Given the description of an element on the screen output the (x, y) to click on. 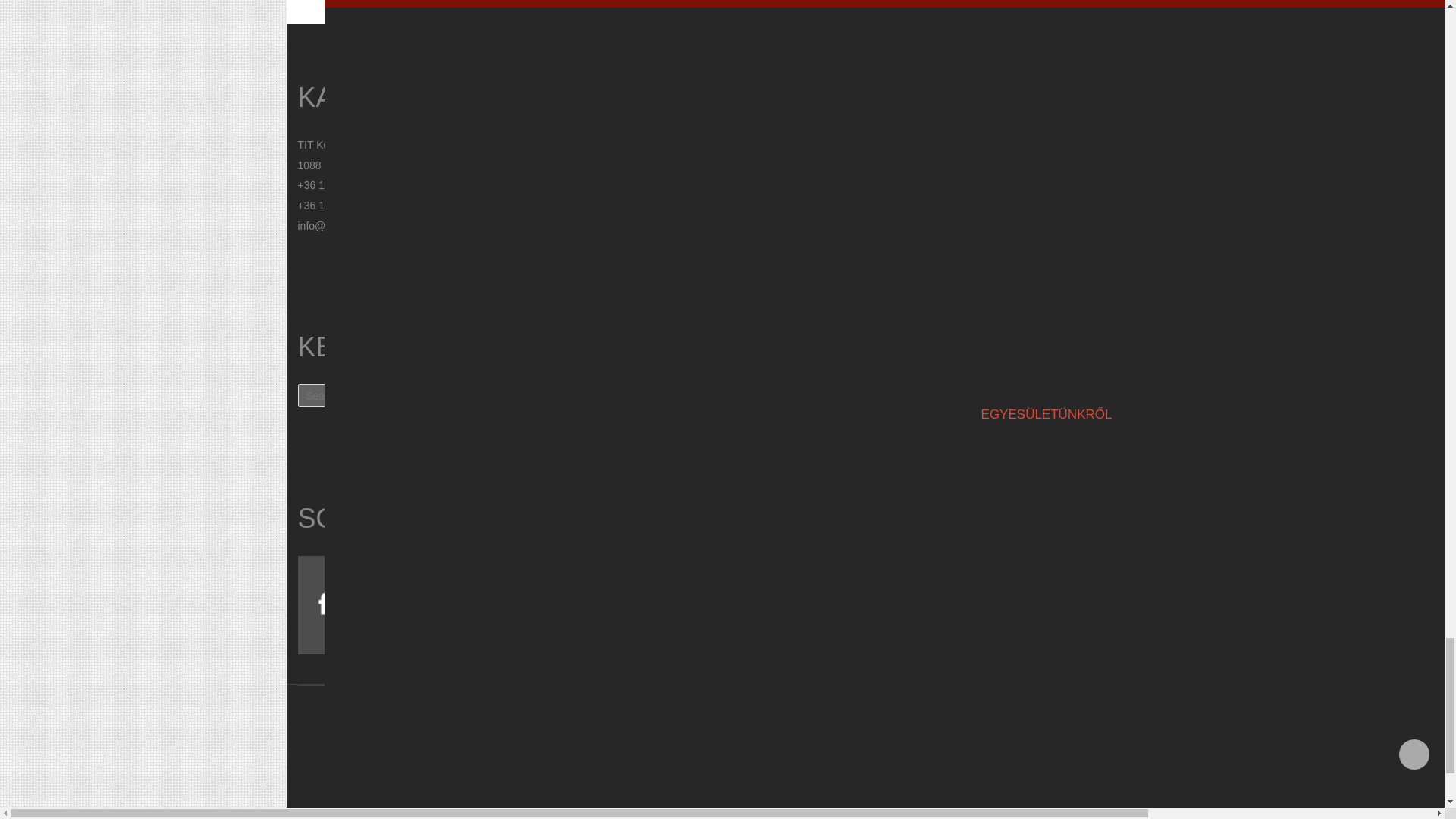
PARTNEREINK (1045, 331)
